Given the description of an element on the screen output the (x, y) to click on. 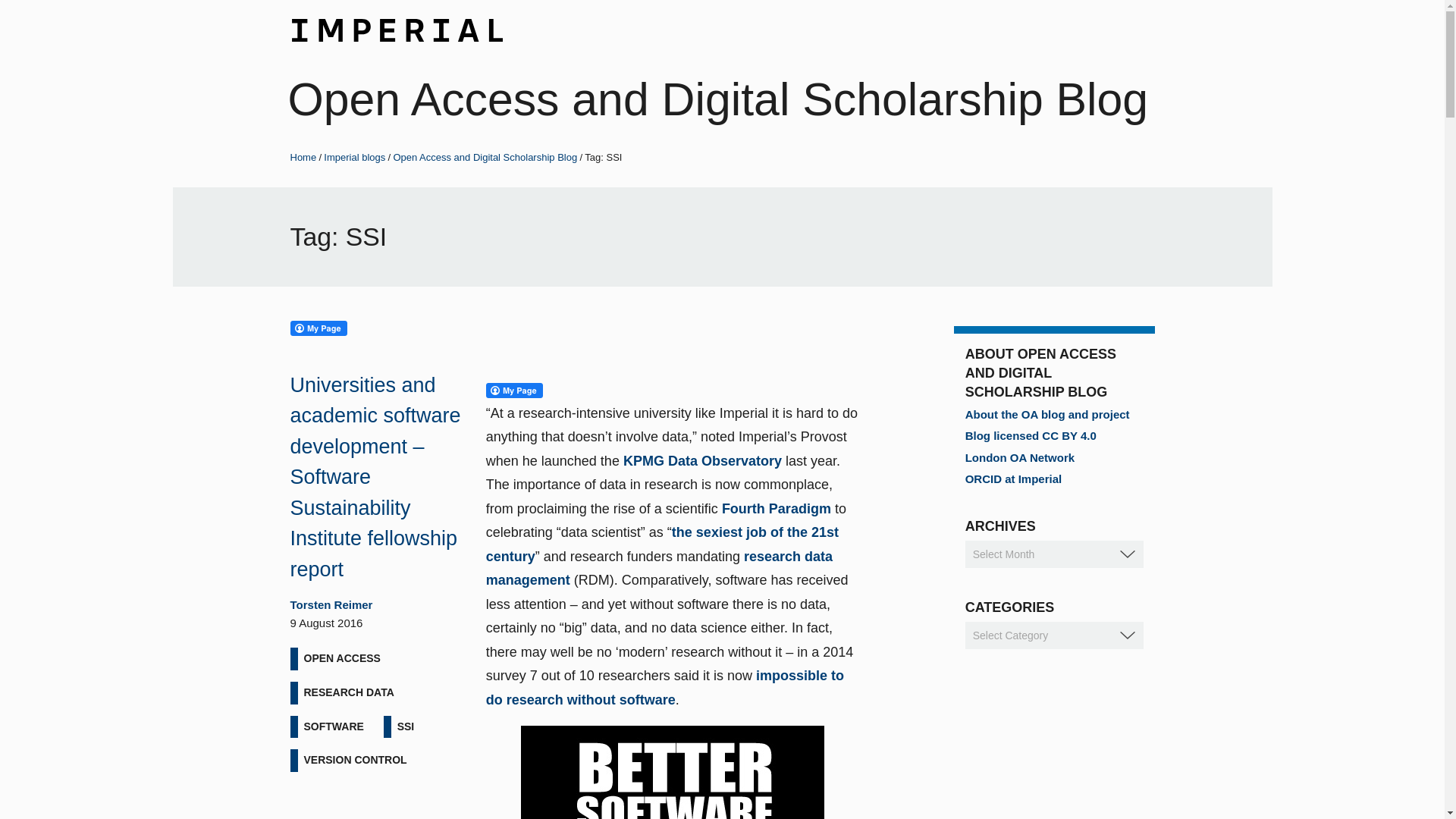
KPMG Data Observatory (702, 460)
the sexiest job of the 21st century (662, 544)
View all posts in Research Data (347, 692)
RESEARCH DATA (347, 692)
Open Access and Digital Scholarship Blog (718, 99)
About the OA blog and project (1047, 413)
View all posts in software (333, 726)
Fourth Paradigm (776, 508)
Open Access and Digital Scholarship Blog (484, 156)
SSI (405, 726)
